Given the description of an element on the screen output the (x, y) to click on. 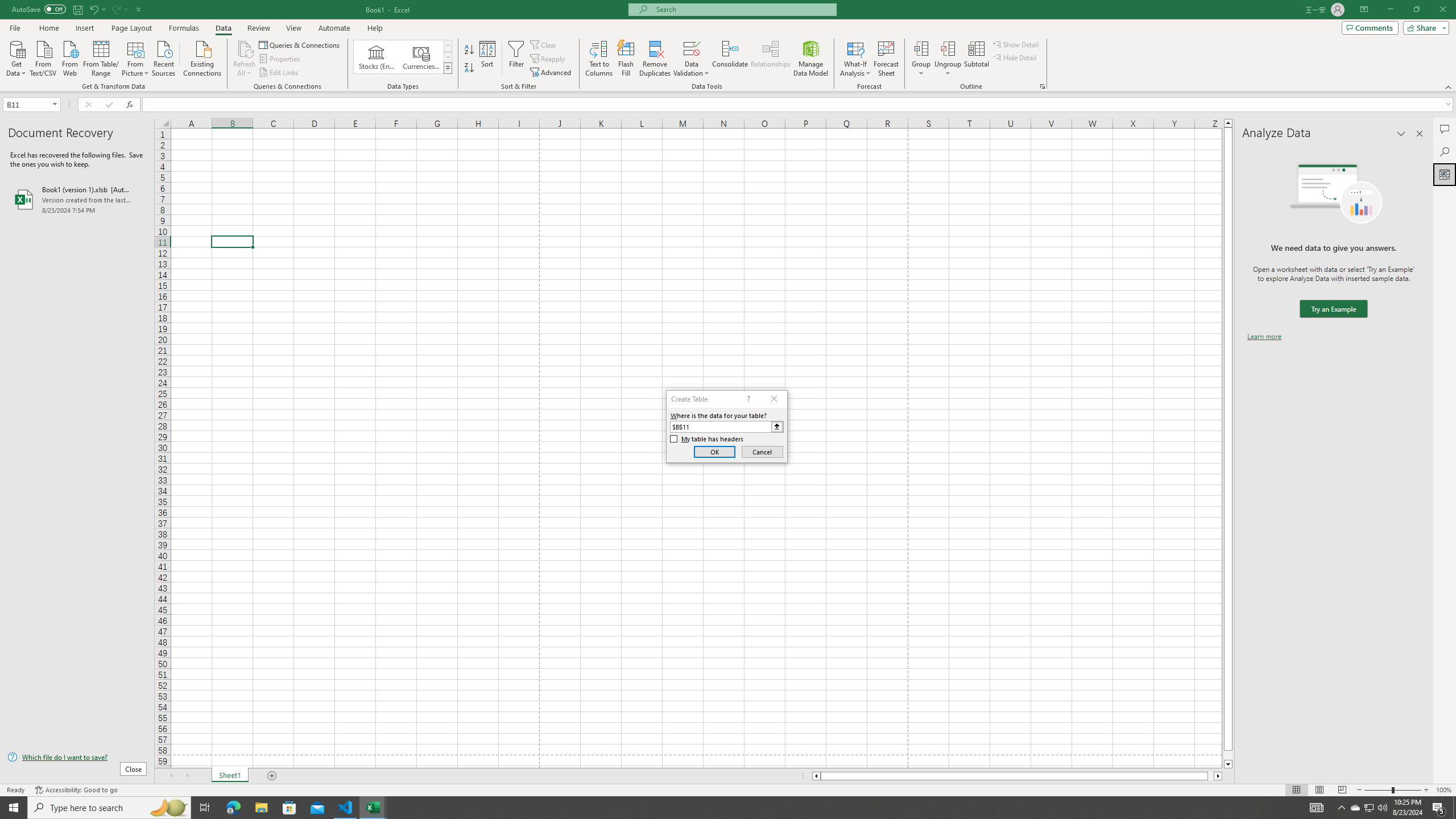
Consolidate... (729, 58)
